Given the description of an element on the screen output the (x, y) to click on. 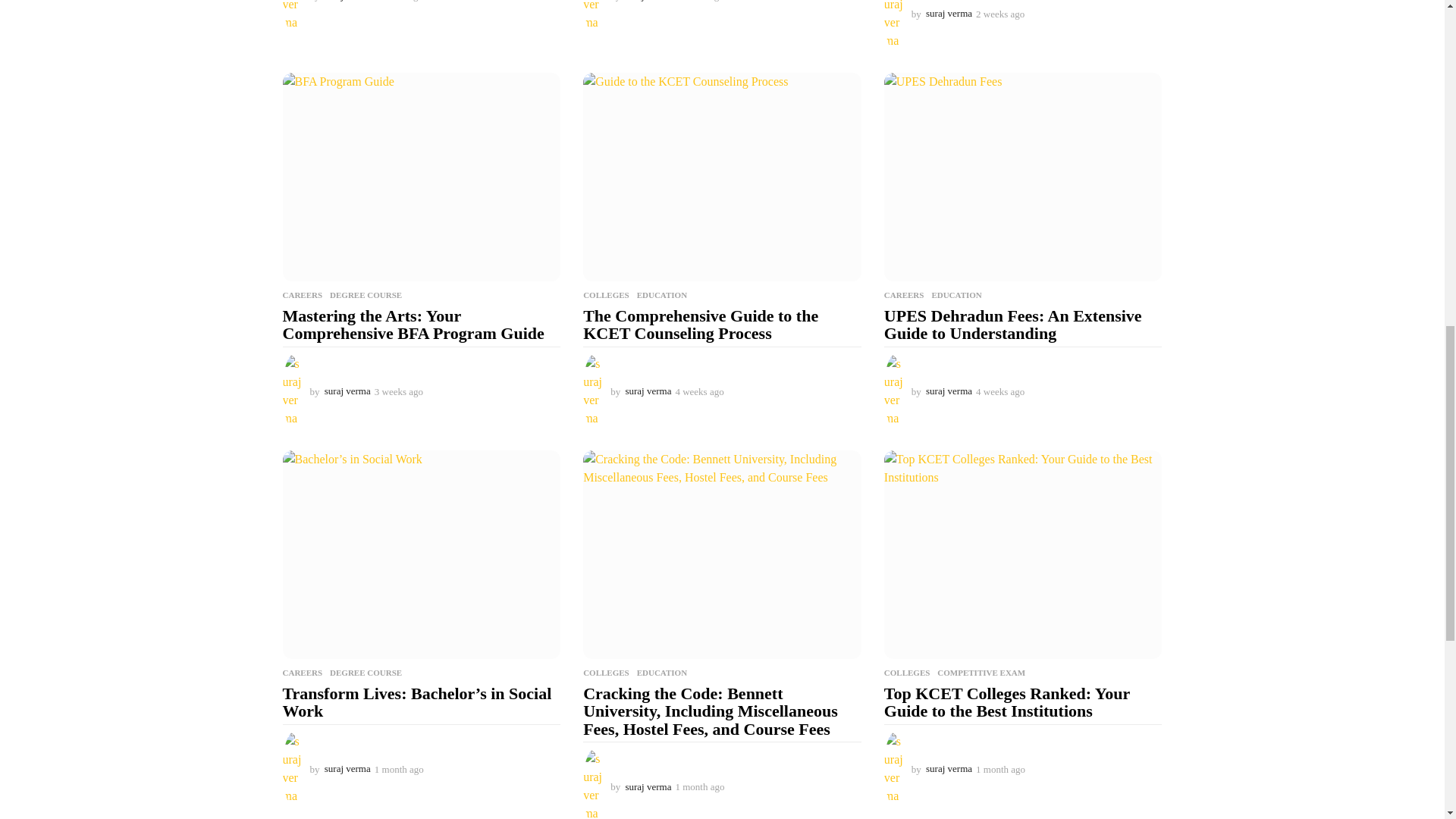
UPES Dehradun Fees: An Extensive Guide to Understanding (1022, 176)
The Comprehensive Guide to the KCET Counseling Process (722, 176)
Mastering the Arts: Your Comprehensive BFA Program Guide (421, 176)
